Given the description of an element on the screen output the (x, y) to click on. 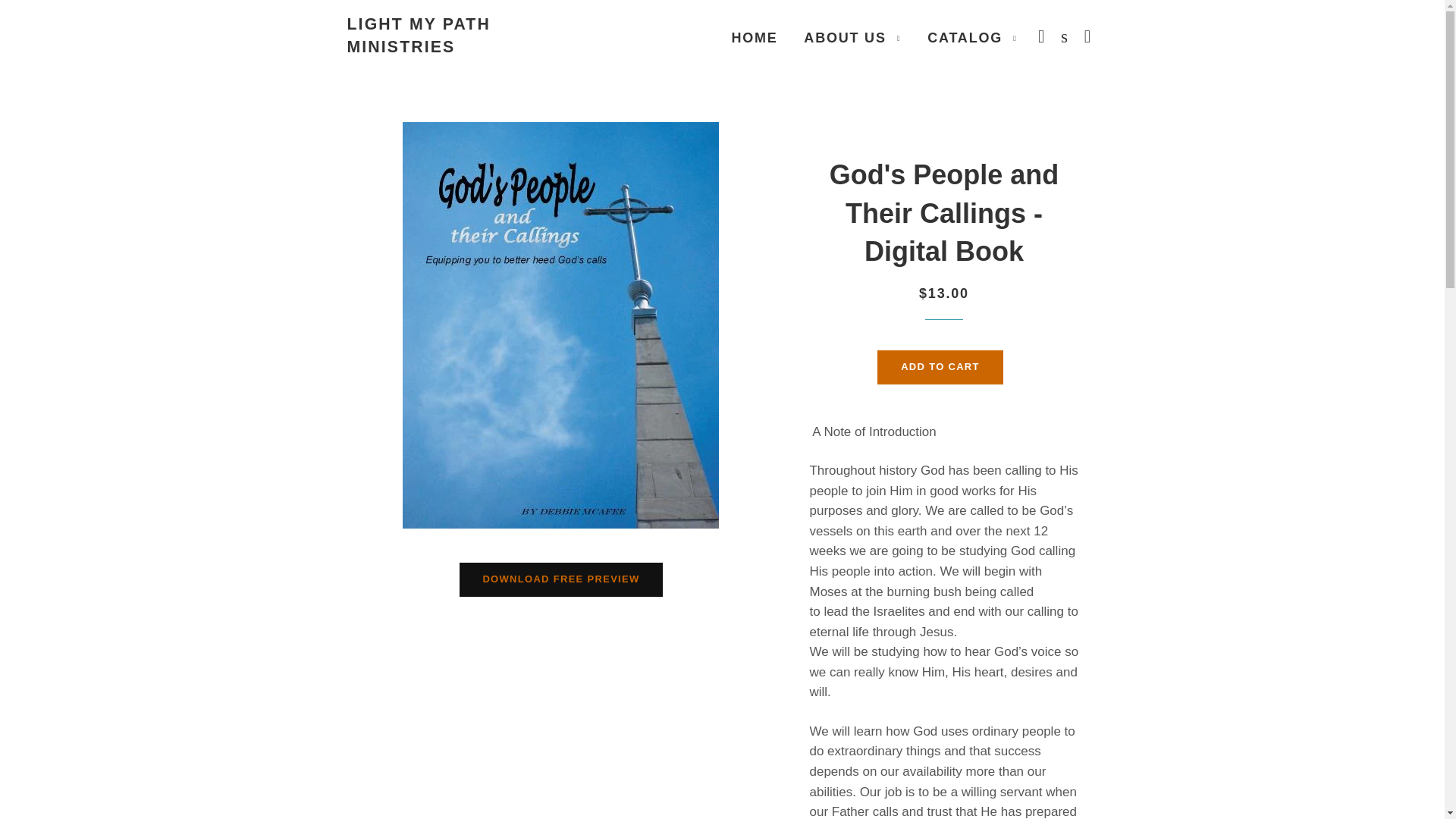
CATALOG (972, 37)
ABOUT US (852, 37)
ADD TO CART (940, 367)
DOWNLOAD FREE PREVIEW (561, 579)
LIGHT MY PATH MINISTRIES (471, 35)
HOME (754, 37)
